Given the description of an element on the screen output the (x, y) to click on. 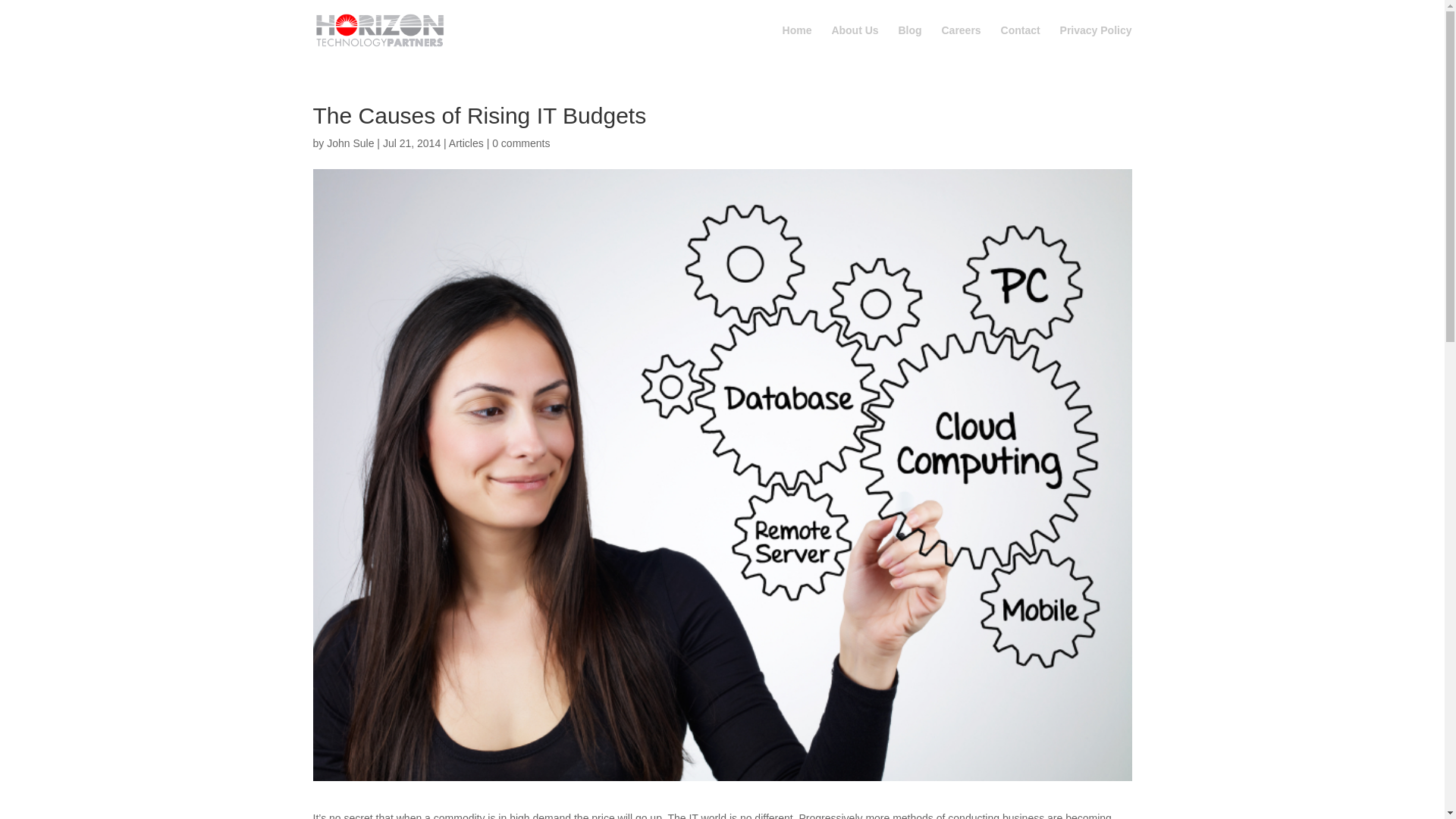
Contact (1021, 42)
Careers (959, 42)
Home (797, 42)
About Us (854, 42)
Privacy Policy (1095, 42)
John Sule (350, 143)
0 comments (521, 143)
Posts by John Sule (350, 143)
Blog (909, 42)
Articles (465, 143)
